Given the description of an element on the screen output the (x, y) to click on. 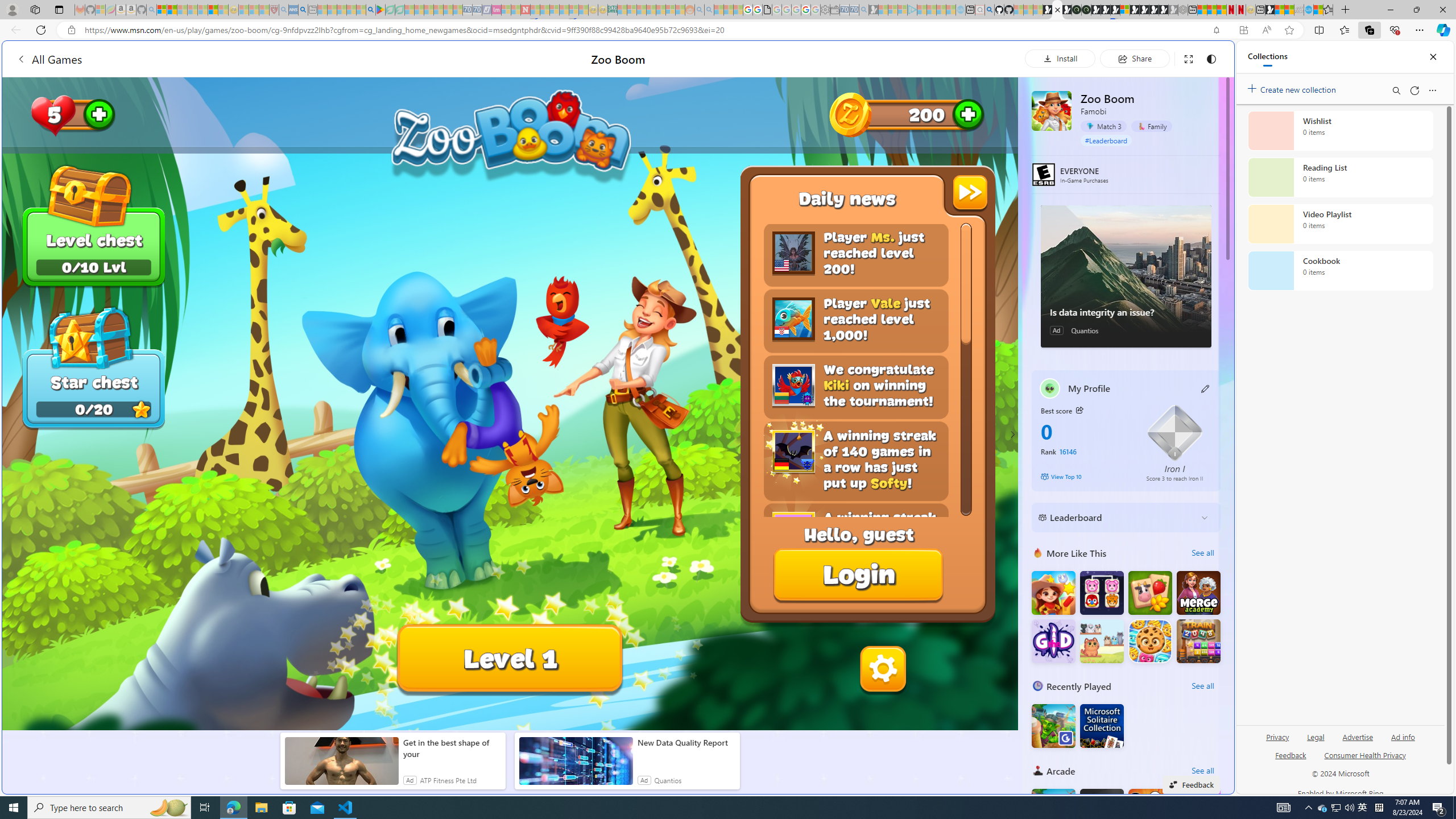
More options menu (1432, 90)
Kinda Frugal - MSN - Sleeping (660, 9)
Match 3 (1103, 125)
Home | Sky Blue Bikes - Sky Blue Bikes - Sleeping (959, 9)
Video Playlist collection, 0 items (1339, 223)
""'s avatar (1049, 387)
Search or enter web address (922, 108)
All Games (216, 58)
